Given the description of an element on the screen output the (x, y) to click on. 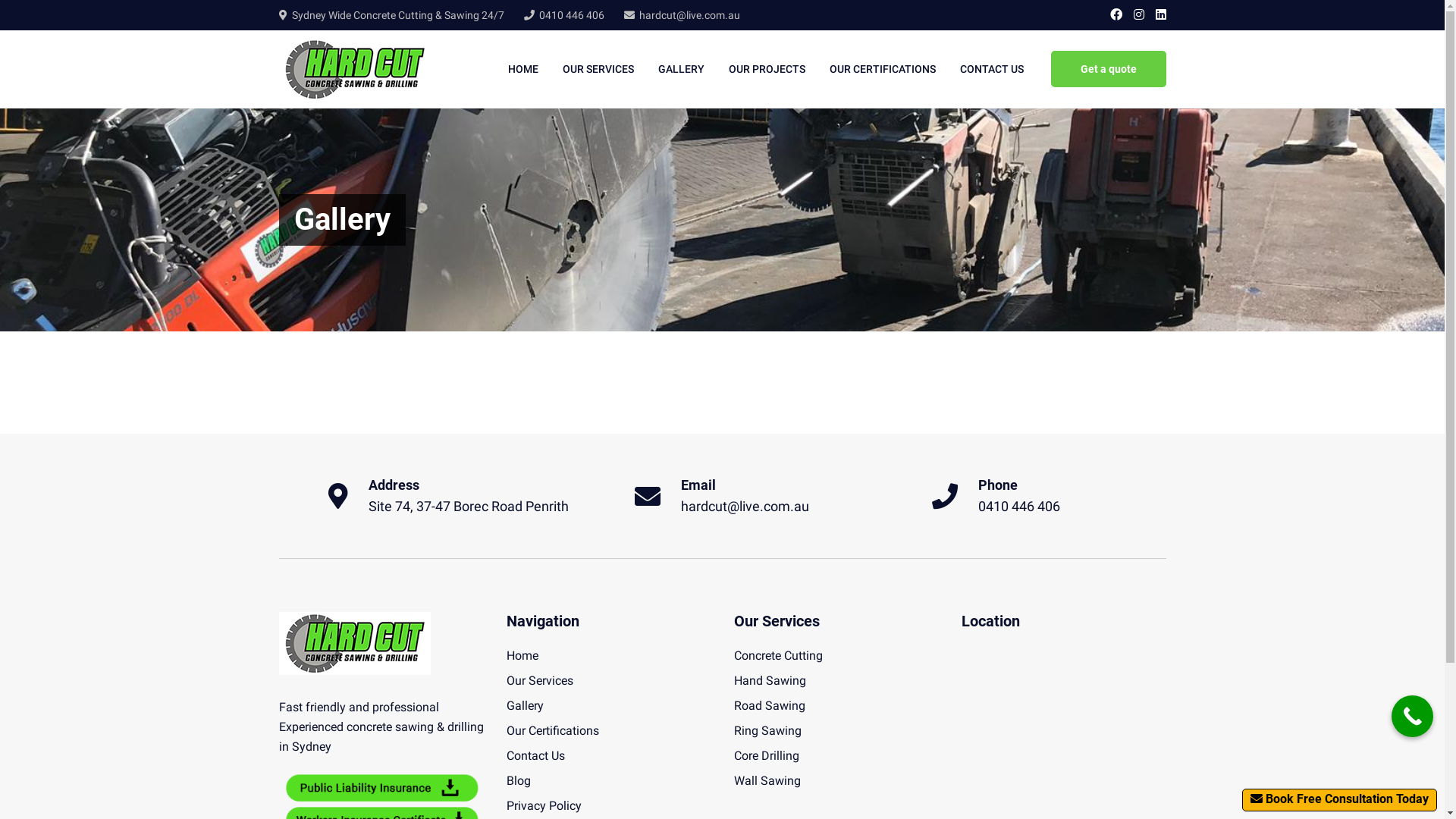
Ring Sawing Element type: text (767, 730)
Book Free Consultation Today Element type: text (1339, 799)
Privacy Policy Element type: text (543, 805)
0410 446 406 Element type: text (1019, 506)
hardcut@live.com.au Element type: text (744, 506)
CONTACT US Element type: text (991, 69)
Get a quote Element type: text (1108, 68)
Gallery Element type: text (524, 705)
Our Certifications Element type: text (552, 730)
Our Services Element type: text (539, 680)
Core Drilling Element type: text (766, 755)
HOME Element type: text (523, 69)
Blog Element type: text (518, 780)
Road Sawing Element type: text (769, 705)
Hand Sawing Element type: text (770, 680)
hardcut@live.com.au Element type: text (688, 15)
0410 446 406 Element type: text (570, 15)
Concrete Cutting Element type: text (778, 655)
Contact Us Element type: text (535, 755)
OUR CERTIFICATIONS Element type: text (882, 69)
Wall Sawing Element type: text (767, 780)
OUR SERVICES Element type: text (597, 69)
GALLERY Element type: text (681, 69)
Home Element type: text (522, 655)
OUR PROJECTS Element type: text (766, 69)
